Given the description of an element on the screen output the (x, y) to click on. 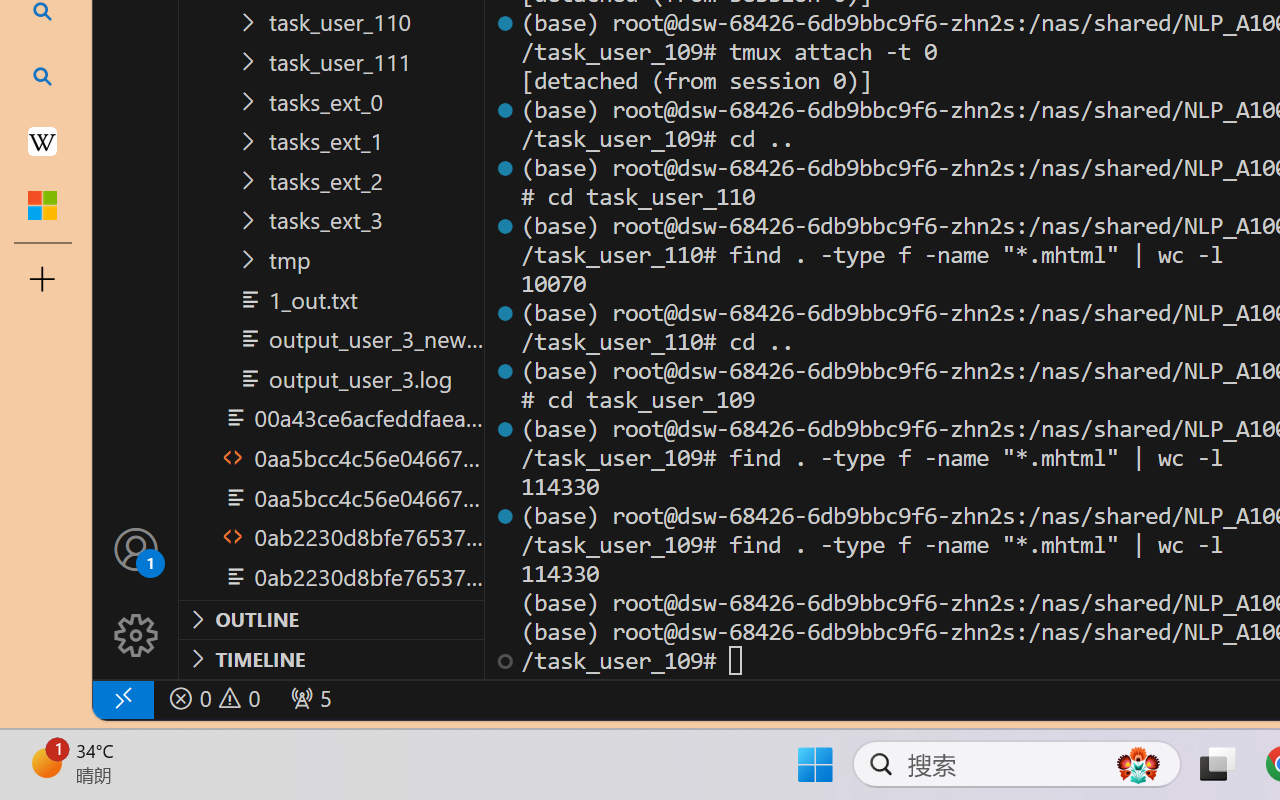
Timeline Section (331, 658)
remote (122, 698)
Earth - Wikipedia (42, 140)
No Problems (212, 698)
Manage (135, 635)
Forwarded Ports: 36301, 47065, 38781, 45817, 50331 (308, 698)
Outline Section (331, 619)
Manage (135, 591)
Accounts - Sign in requested (135, 548)
